Given the description of an element on the screen output the (x, y) to click on. 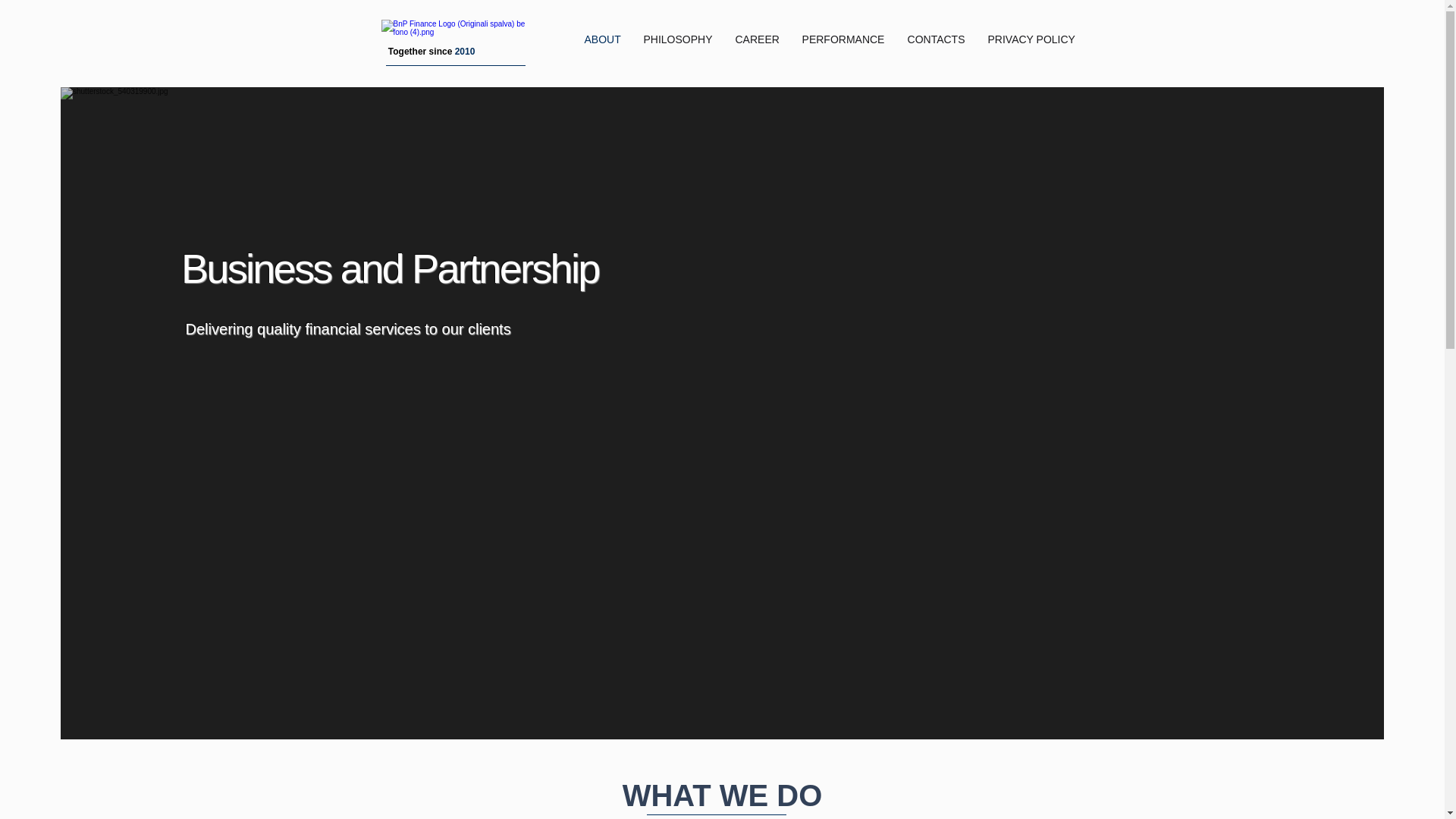
CAREER (756, 38)
PRIVACY POLICY (1031, 38)
ABOUT (602, 38)
PERFORMANCE (842, 38)
CONTACTS (936, 38)
PHILOSOPHY (677, 38)
